Given the description of an element on the screen output the (x, y) to click on. 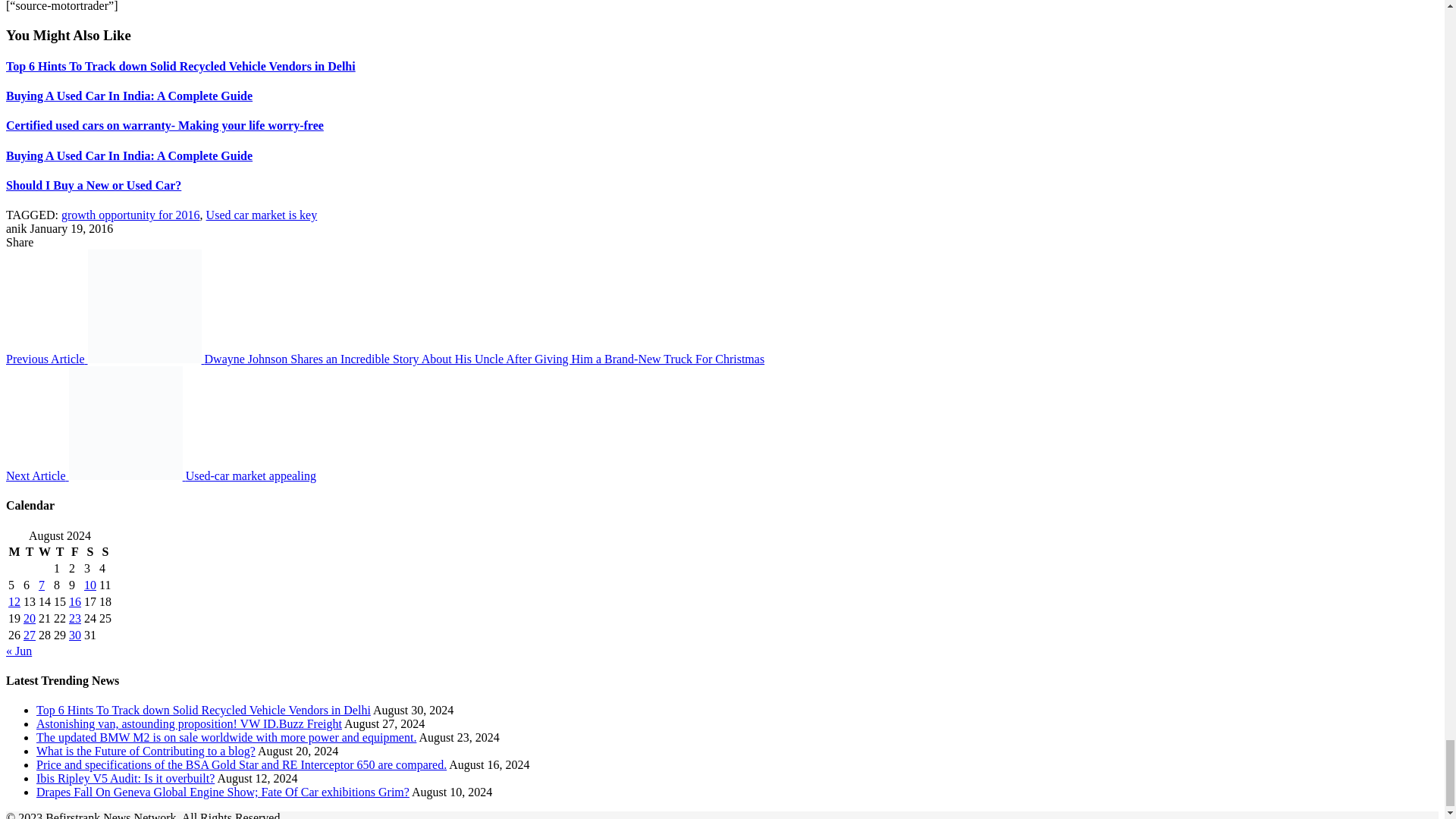
Friday (74, 551)
Saturday (89, 551)
Wednesday (43, 551)
Monday (14, 551)
Tuesday (29, 551)
Sunday (105, 551)
Thursday (59, 551)
